Given the description of an element on the screen output the (x, y) to click on. 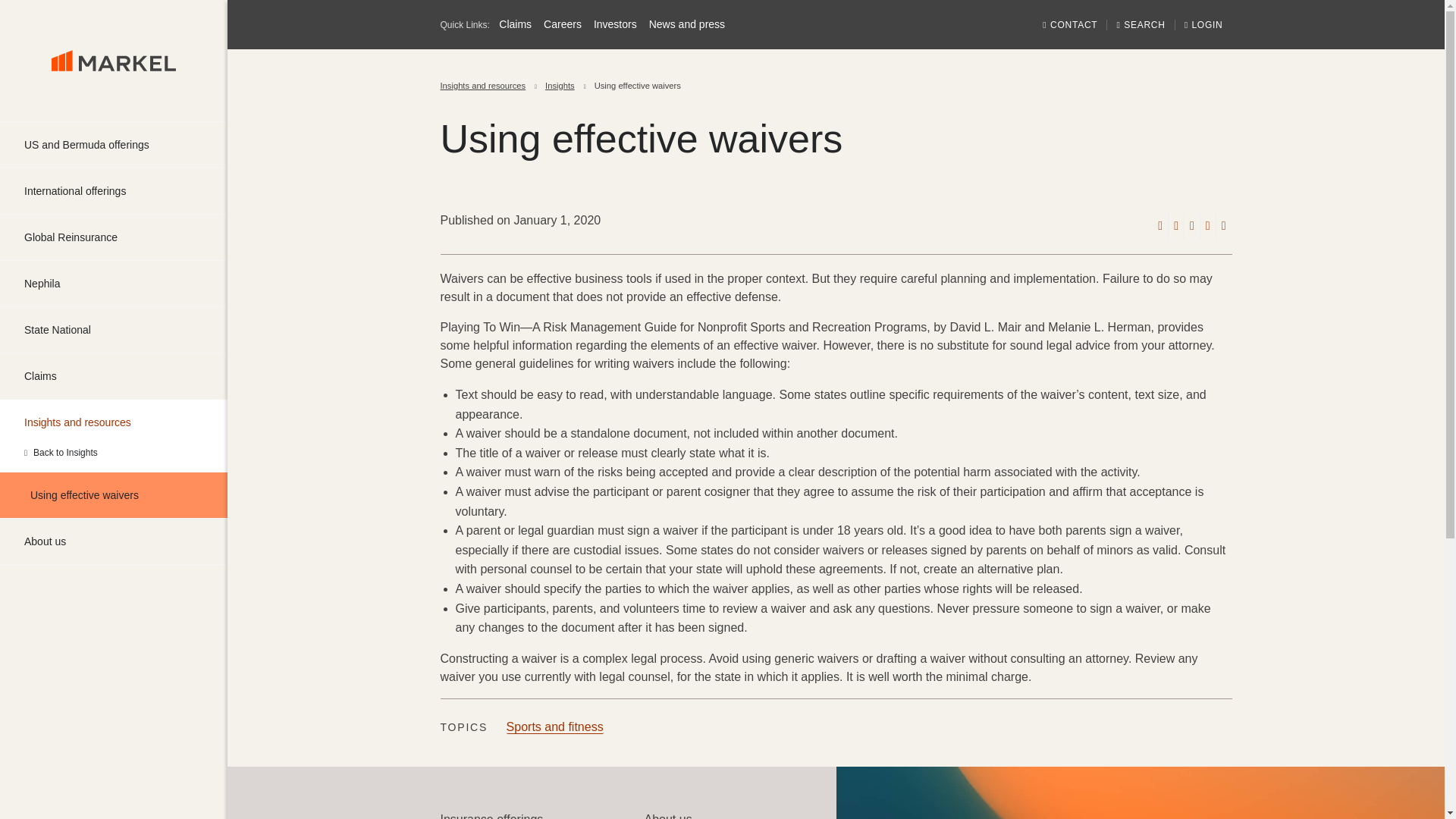
US and Bermuda offerings (113, 144)
Claims (515, 23)
Nephila (113, 283)
Insights and resources (113, 422)
Claims (113, 375)
Global Reinsurance (113, 237)
Insights and resources (482, 86)
Claims (113, 375)
State National (113, 329)
Global Reinsurance (113, 237)
State National (113, 329)
About us (113, 541)
US and Bermuda offerings (113, 144)
Insights (559, 86)
International offerings (113, 190)
